Given the description of an element on the screen output the (x, y) to click on. 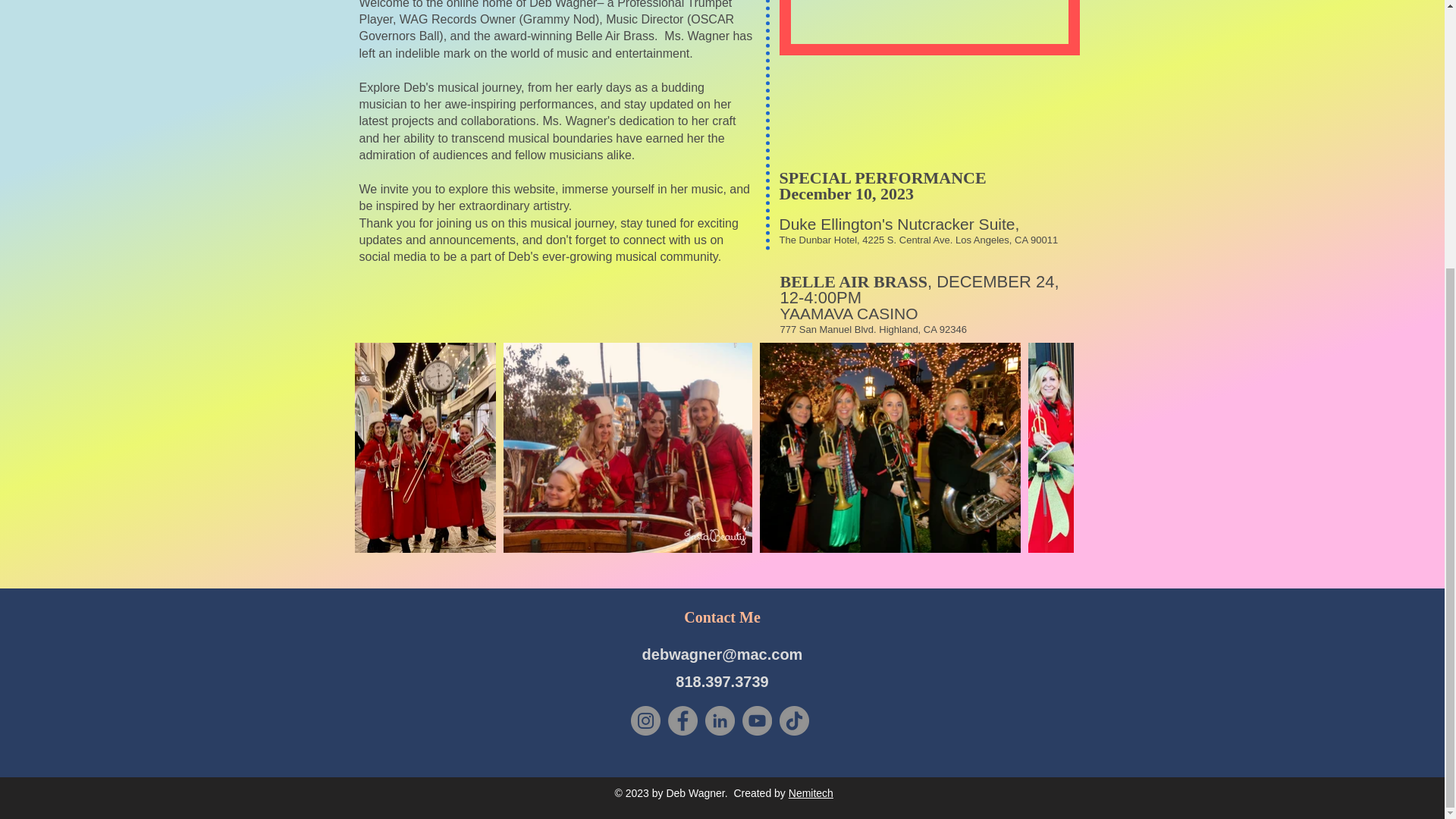
Nemitech (810, 793)
